Given the description of an element on the screen output the (x, y) to click on. 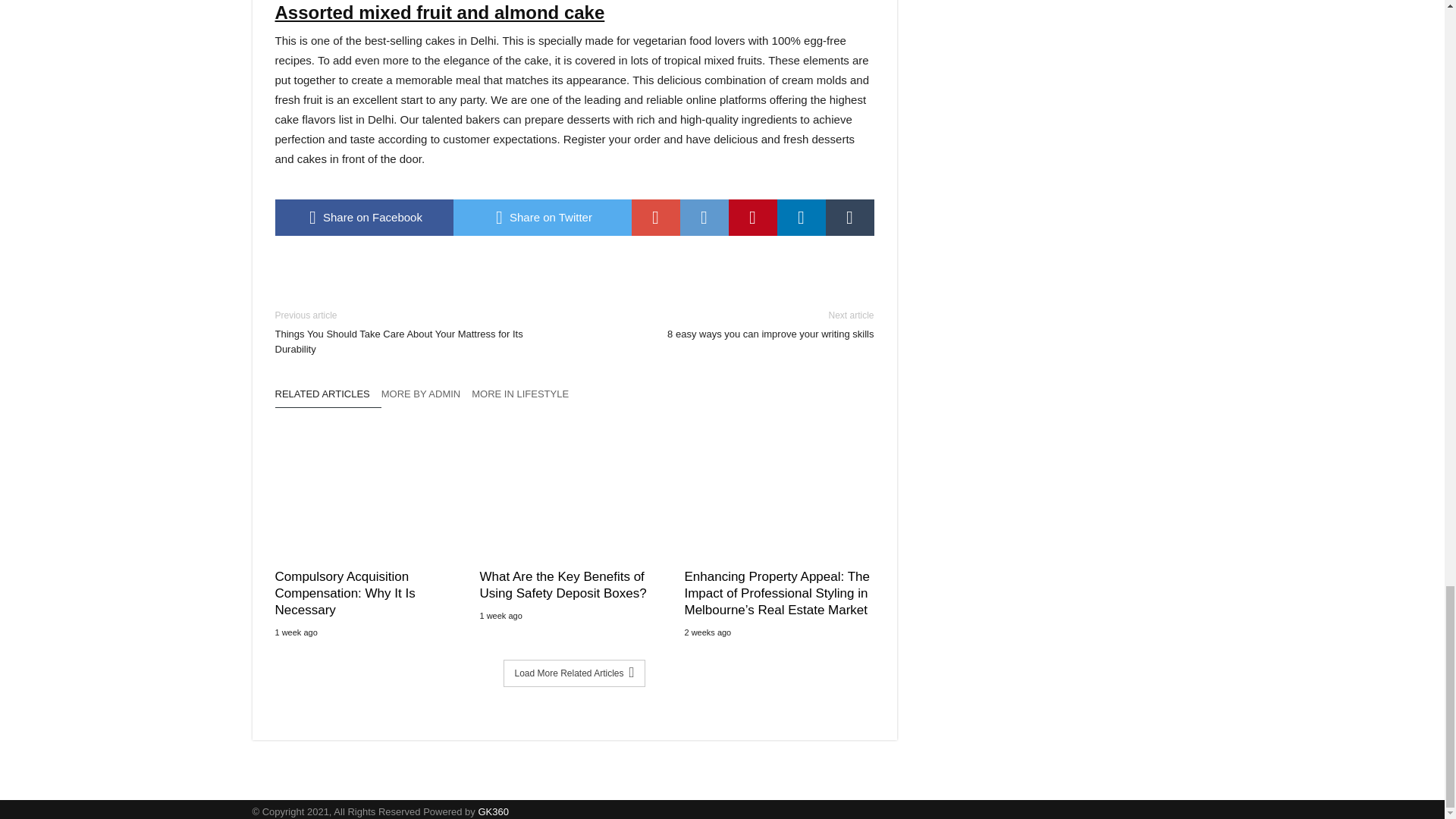
facebook (363, 217)
